Given the description of an element on the screen output the (x, y) to click on. 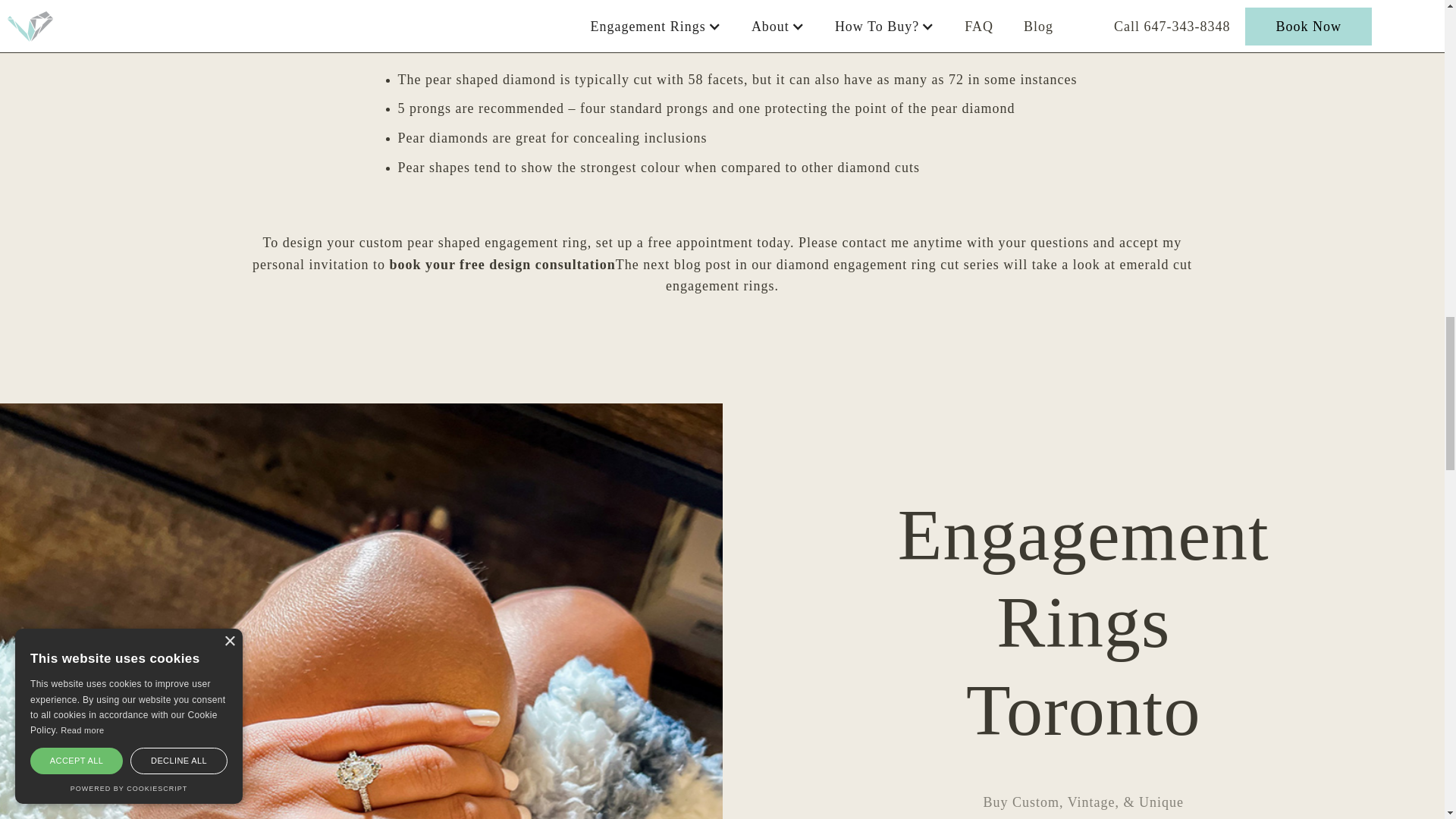
book your free design consultation (501, 264)
